Given the description of an element on the screen output the (x, y) to click on. 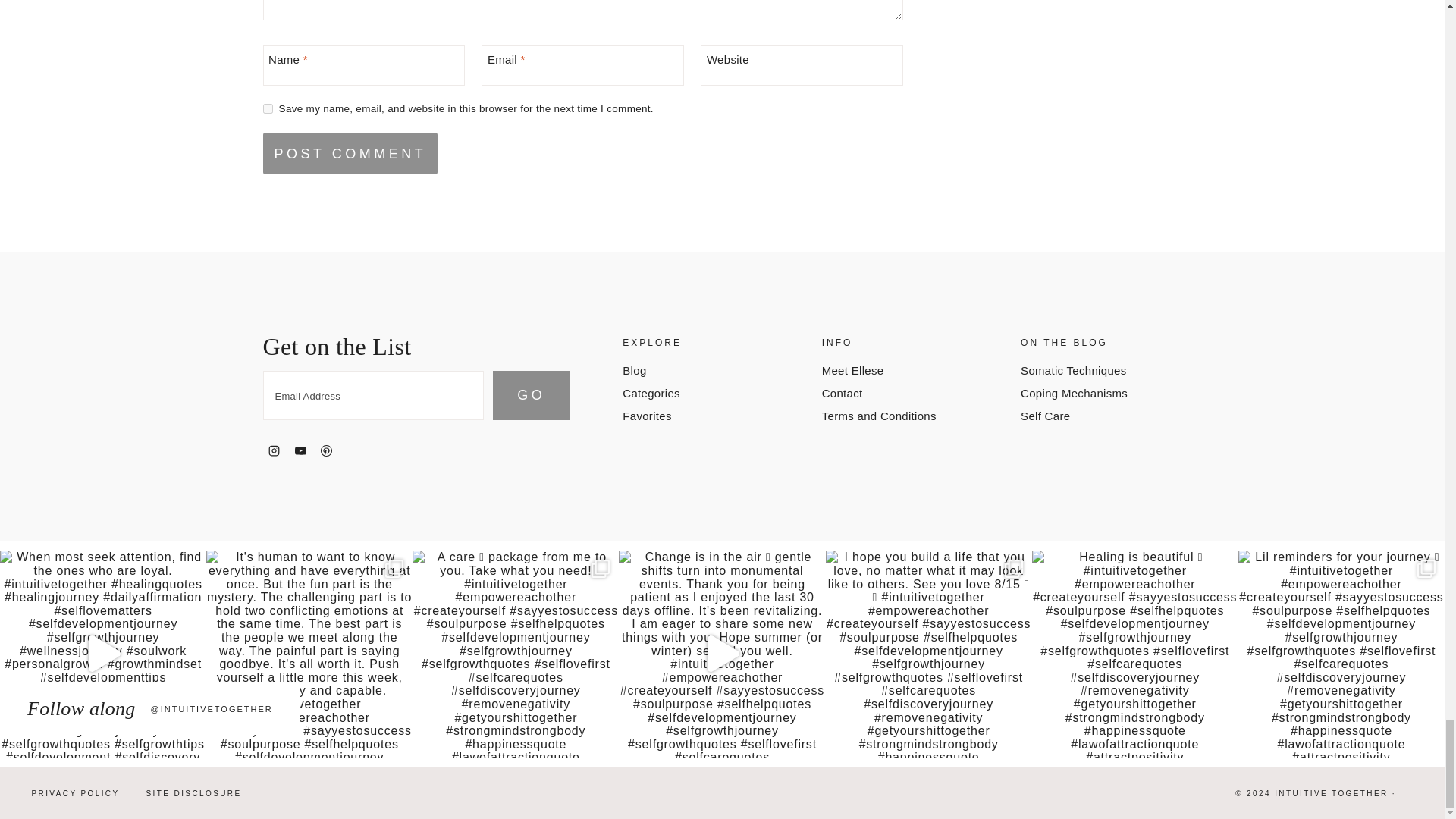
Go (531, 395)
yes (267, 108)
Post Comment (350, 153)
